Given the description of an element on the screen output the (x, y) to click on. 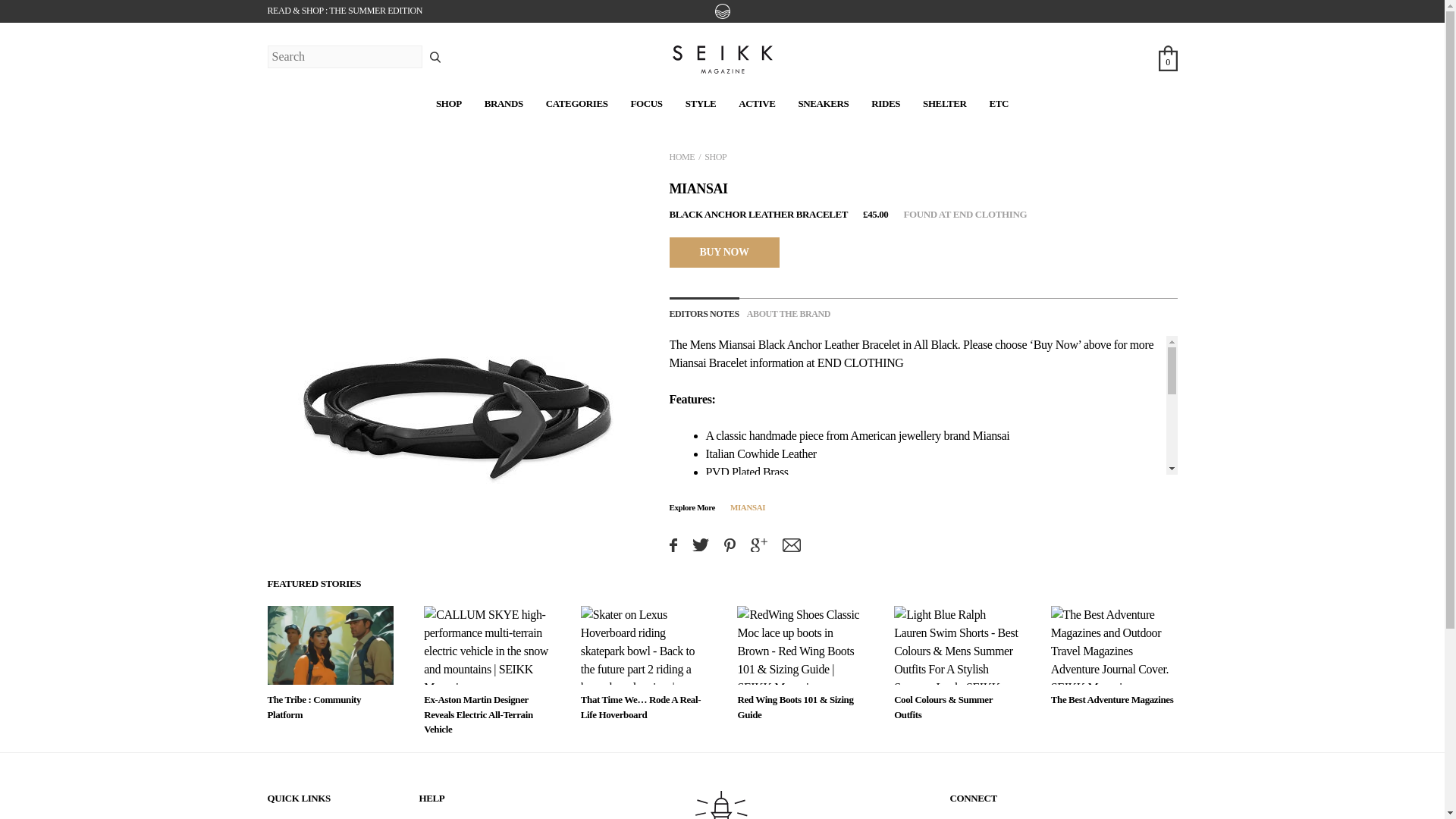
SNEAKERS (822, 102)
MIANSAI (697, 188)
FOCUS (646, 102)
CATEGORIES (577, 102)
MIANSAI (747, 506)
ETC (998, 102)
ACTIVE (756, 102)
RIDES (884, 102)
BUY NOW (723, 251)
STYLE (700, 102)
